Given the description of an element on the screen output the (x, y) to click on. 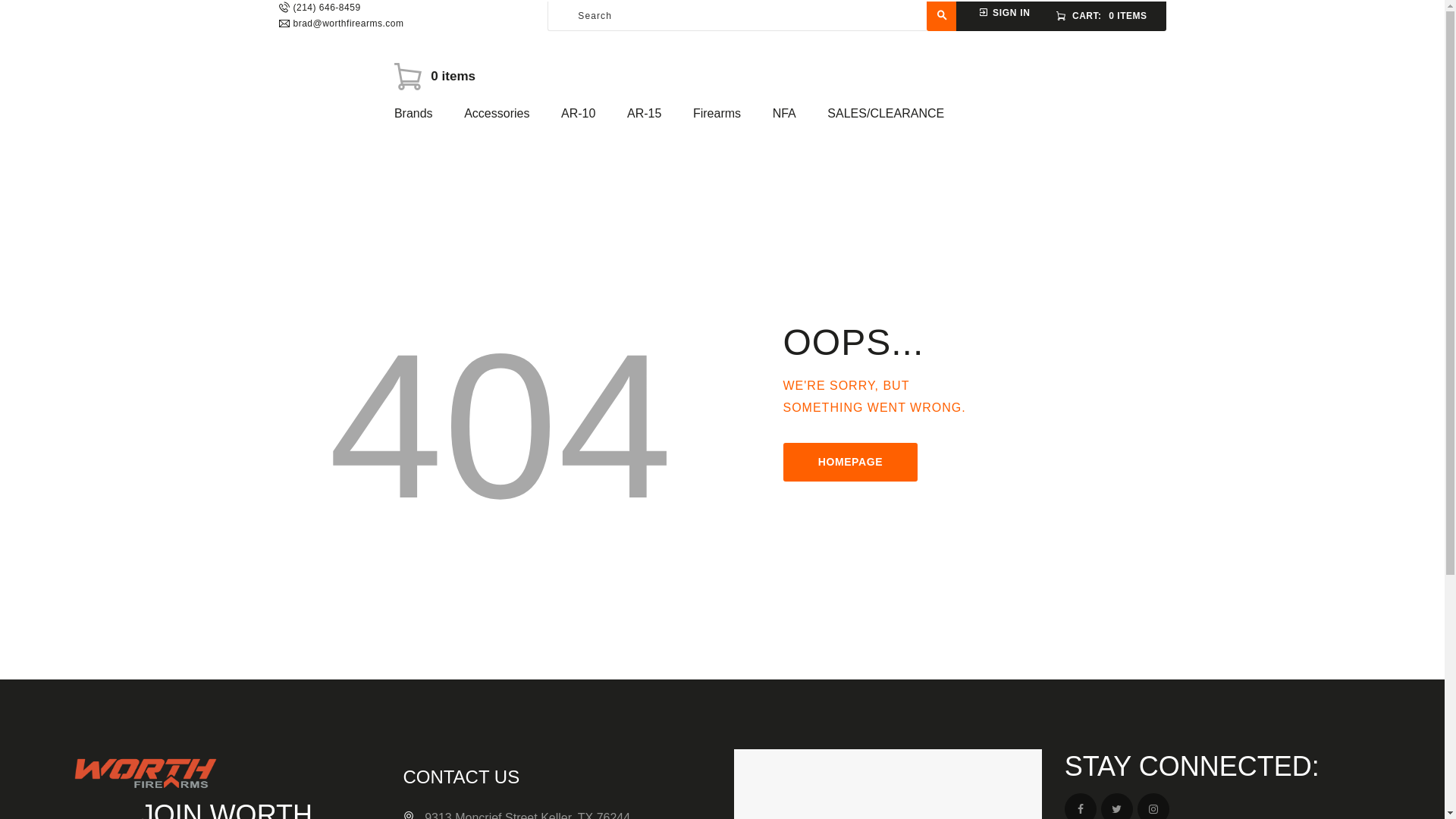
Firearms (717, 113)
SIGN IN (1004, 12)
Accessories (496, 113)
Brands (413, 113)
